Given the description of an element on the screen output the (x, y) to click on. 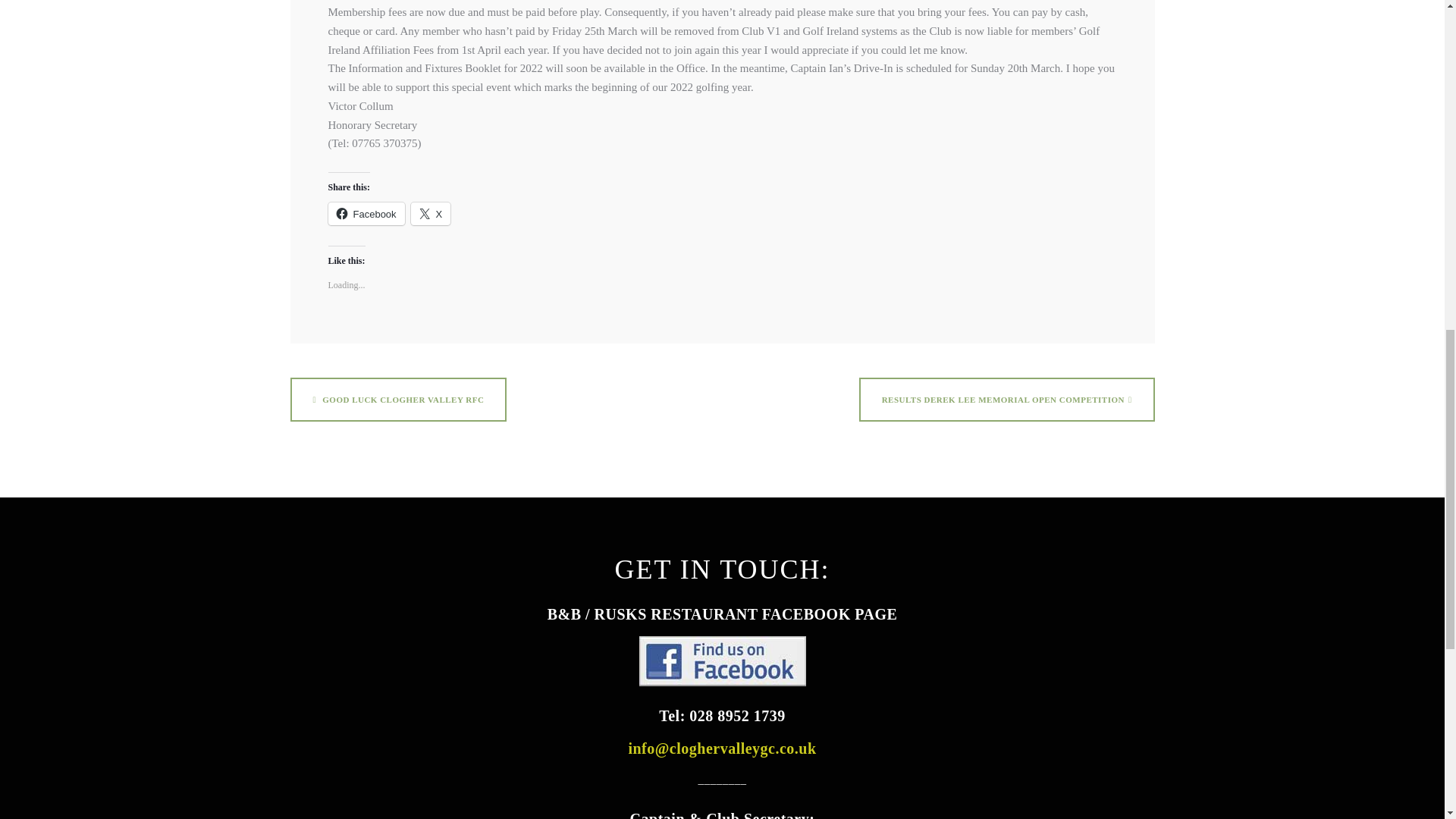
Click to share on X (430, 212)
Click to share on Facebook (365, 212)
